Given the description of an element on the screen output the (x, y) to click on. 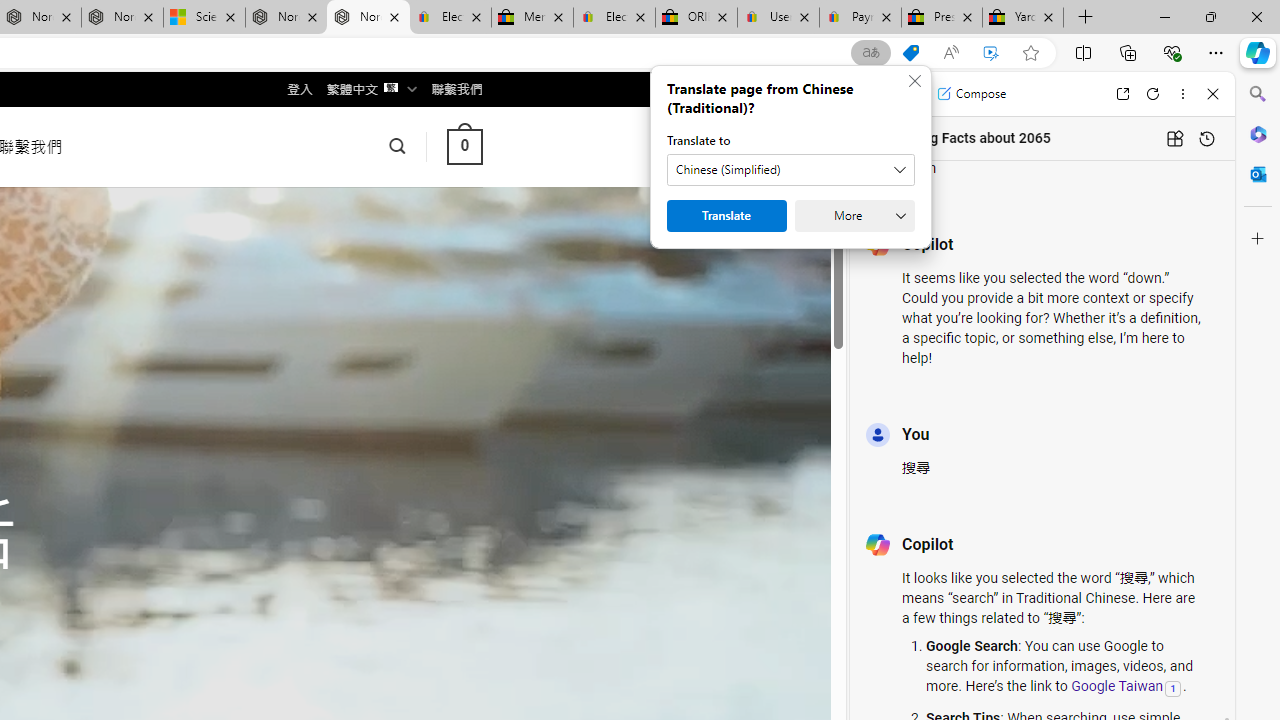
User Privacy Notice | eBay (778, 17)
Electronics, Cars, Fashion, Collectibles & More | eBay (614, 17)
Press Room - eBay Inc. (941, 17)
